Given the description of an element on the screen output the (x, y) to click on. 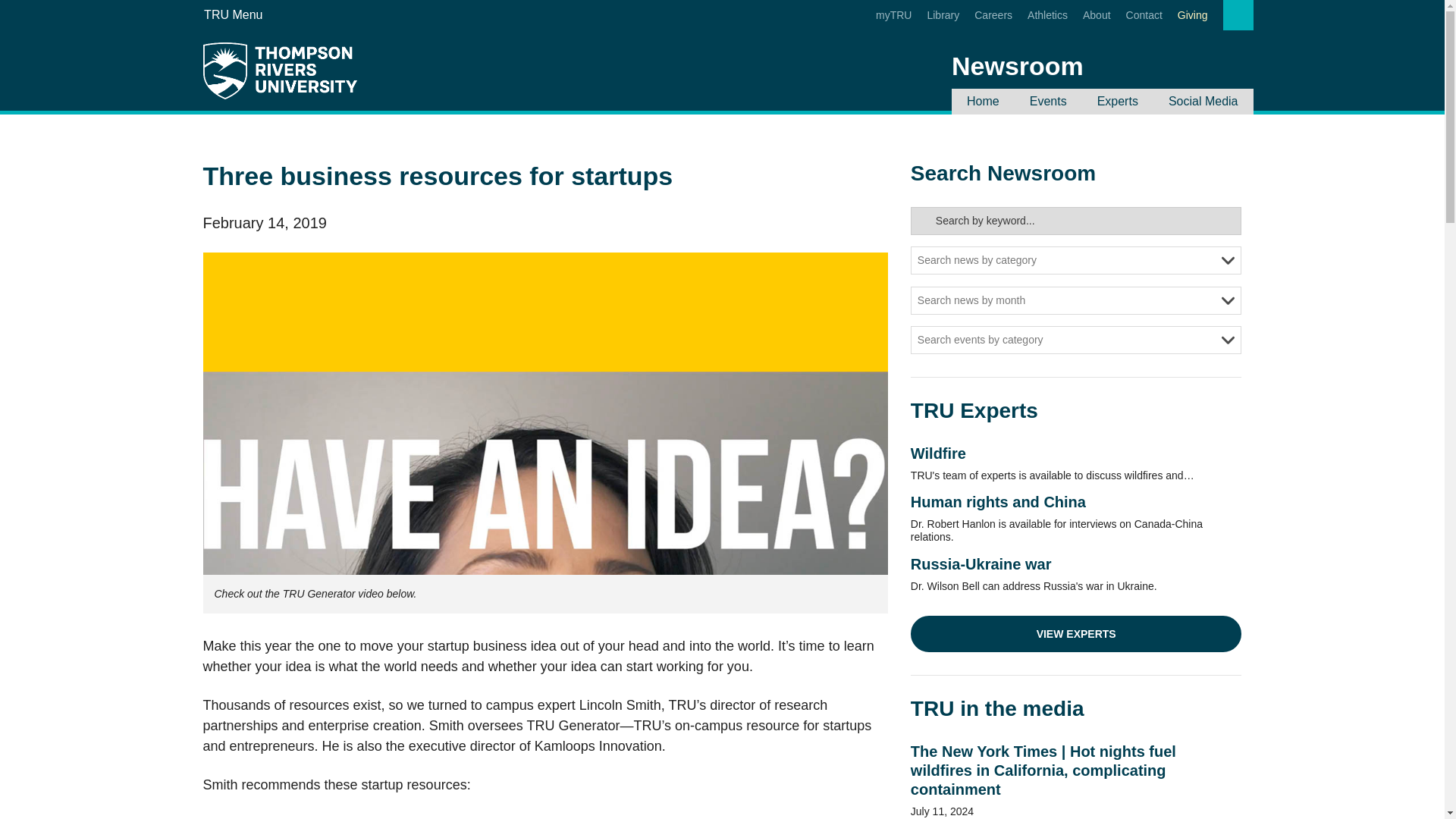
Search for: (1076, 221)
Search (1153, 40)
